Given the description of an element on the screen output the (x, y) to click on. 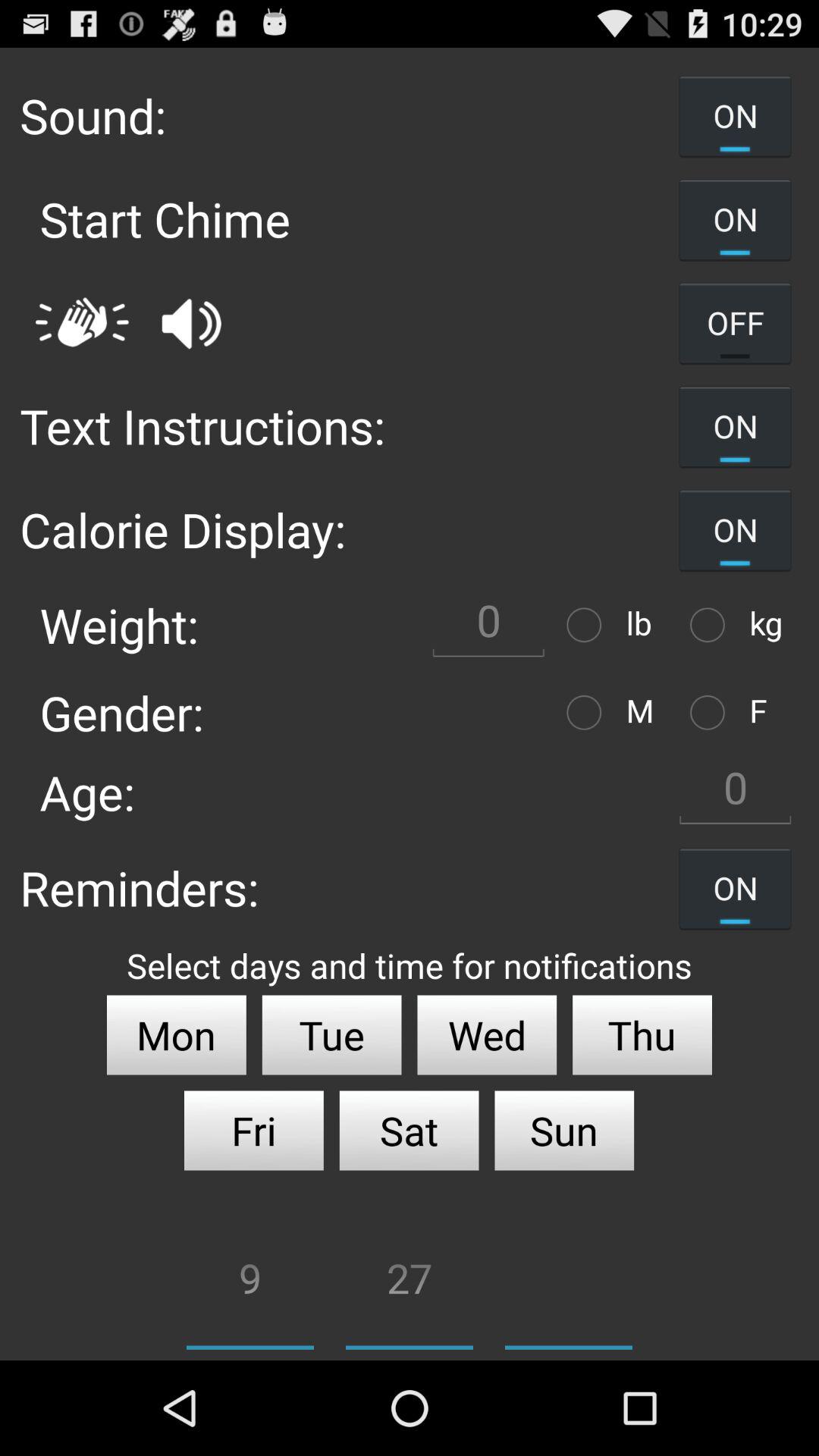
choose option (587, 712)
